Given the description of an element on the screen output the (x, y) to click on. 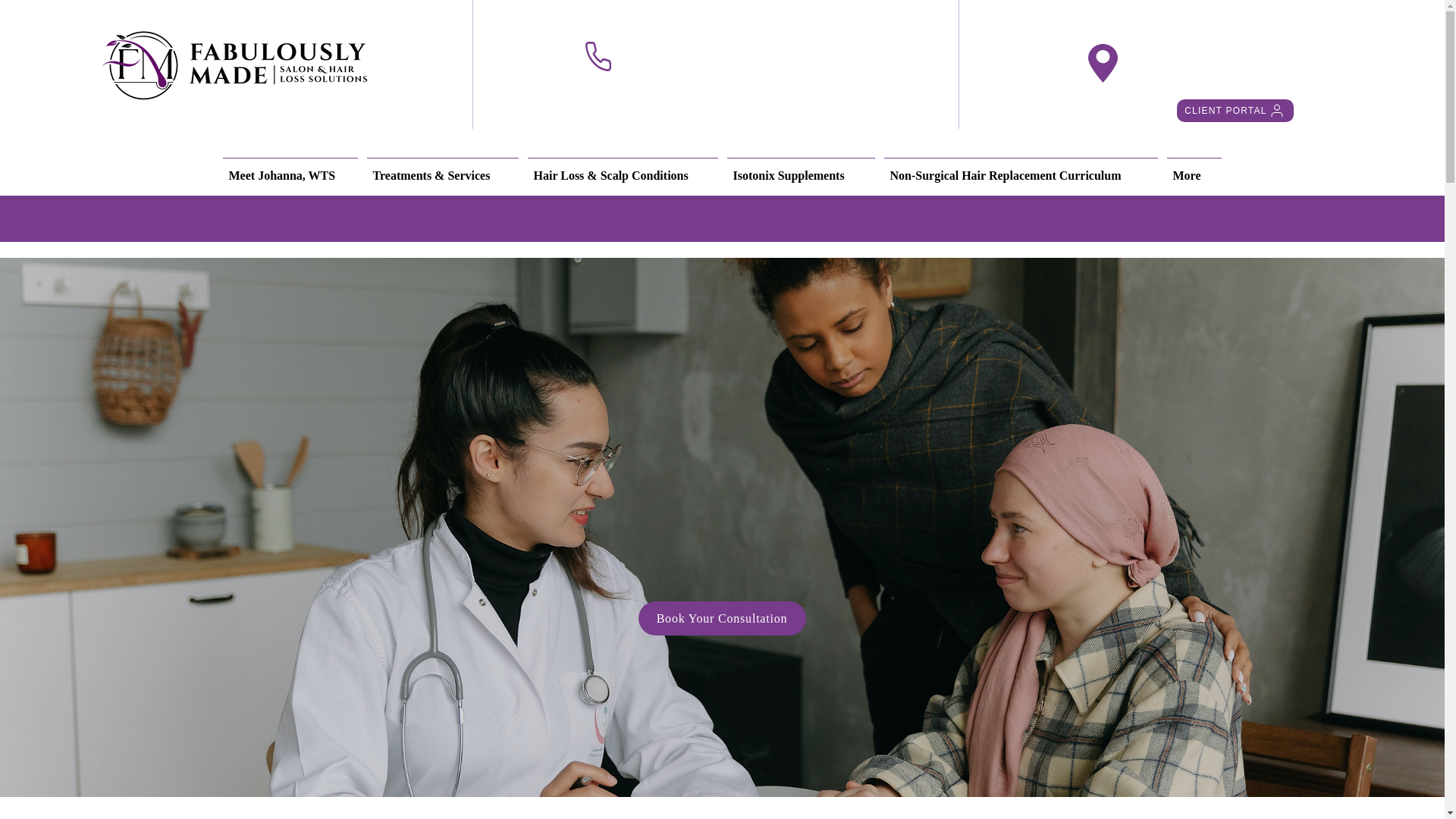
CLIENT PORTAL (1235, 110)
Non-Surgical Hair Replacement Curriculum (1020, 169)
Book Your Consultation (722, 618)
Isotonix Supplements (800, 169)
Meet Johanna, WTS (290, 169)
